Given the description of an element on the screen output the (x, y) to click on. 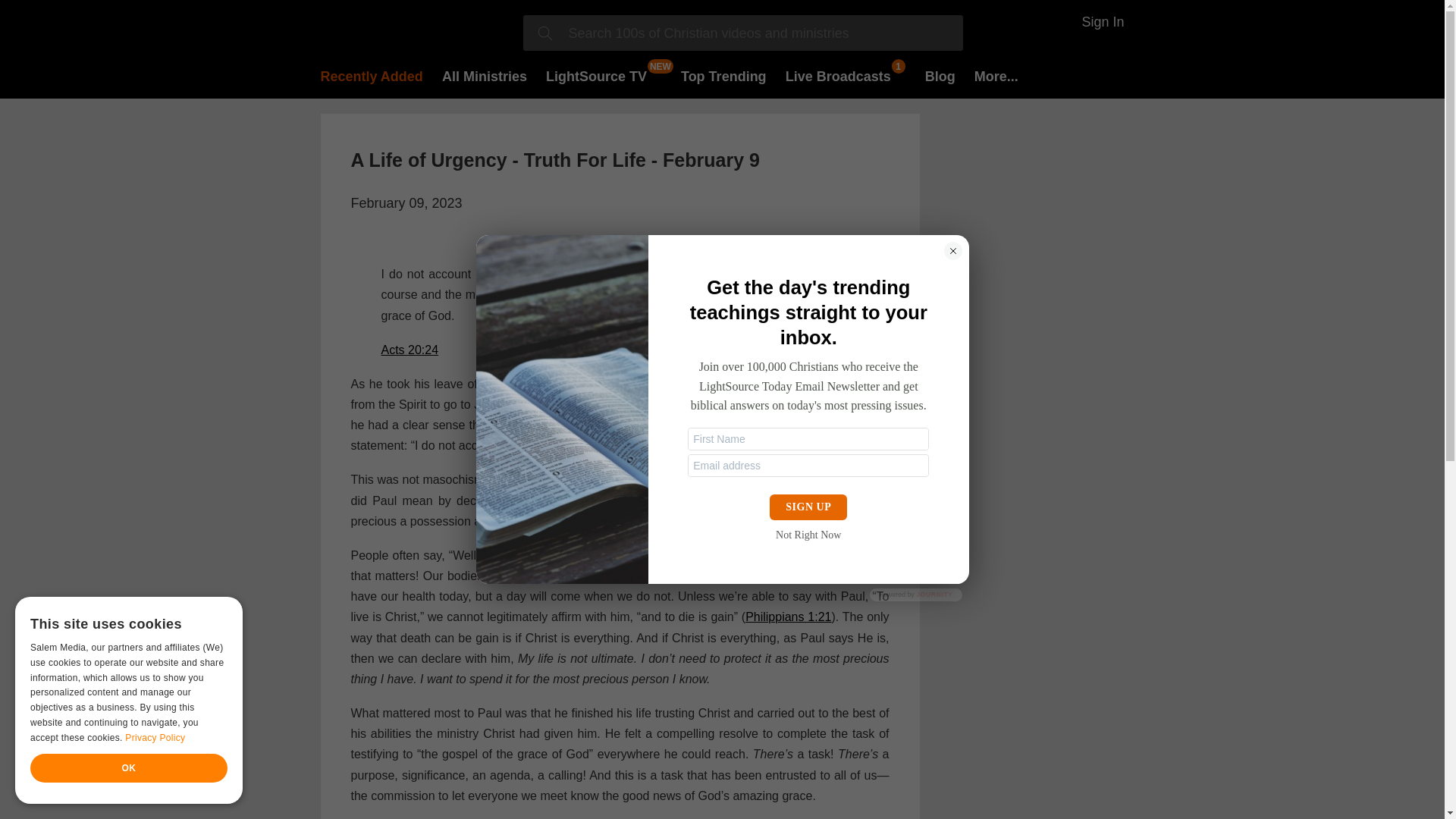
LightSource TV (596, 76)
Acts 20 (628, 383)
Live Broadcasts (845, 76)
More... (995, 76)
All Ministries (484, 76)
Recently Added (371, 76)
Acts 20:24 (409, 349)
Blog (939, 76)
Philippians 1:21 (788, 616)
Top Trending (724, 76)
